Given the description of an element on the screen output the (x, y) to click on. 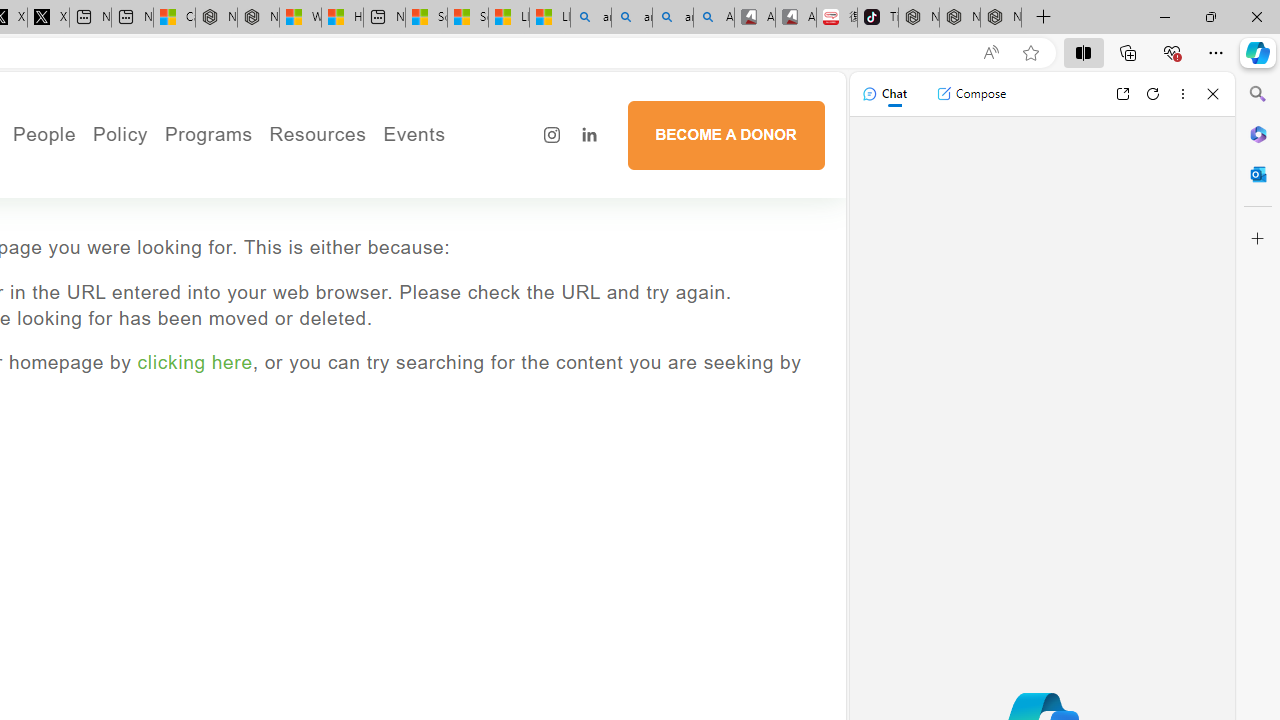
Nordace Siena Pro 15 Backpack (959, 17)
Reports (111, 284)
Close (1213, 93)
Huge shark washes ashore at New York City beach | Watch (342, 17)
New Tab (1044, 17)
Search (1258, 94)
Good Food Zones (393, 173)
Amazon Echo Robot - Search Images (713, 17)
Farm Fresh LA (263, 200)
Policy (120, 134)
Restore (1210, 16)
Publications (230, 200)
Customize (1258, 239)
